Given the description of an element on the screen output the (x, y) to click on. 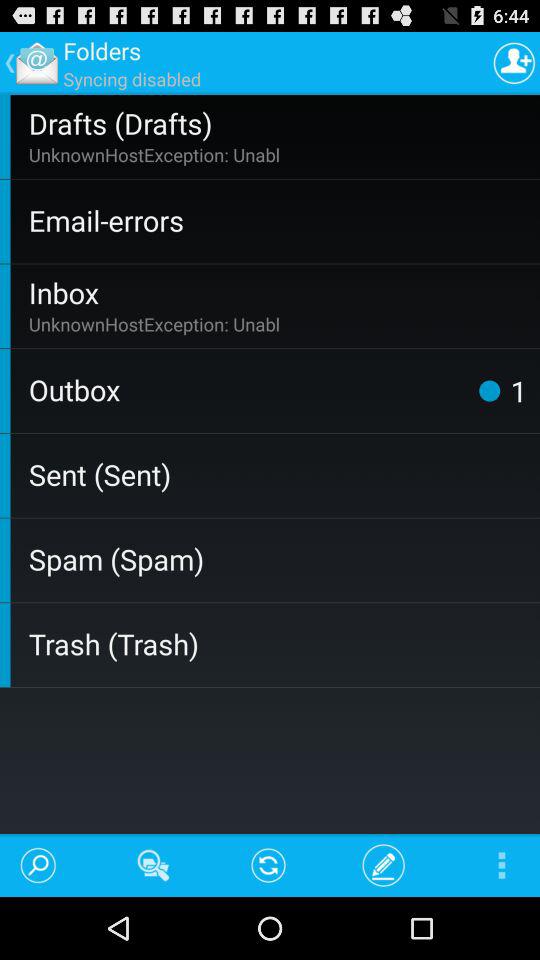
select the app below the unknownhostexception: unabl item (489, 390)
